Given the description of an element on the screen output the (x, y) to click on. 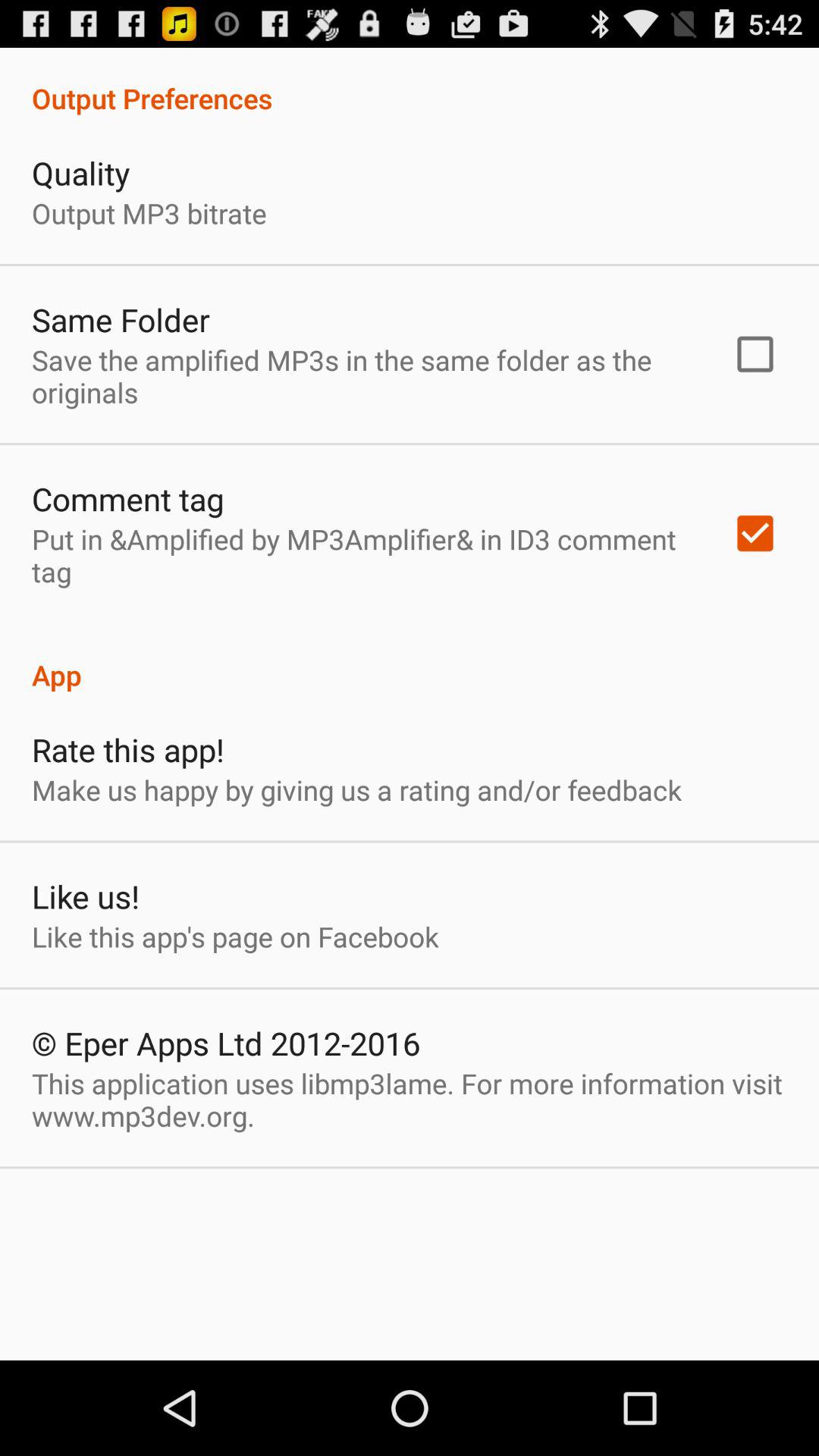
turn on the icon above the this application uses icon (225, 1042)
